Given the description of an element on the screen output the (x, y) to click on. 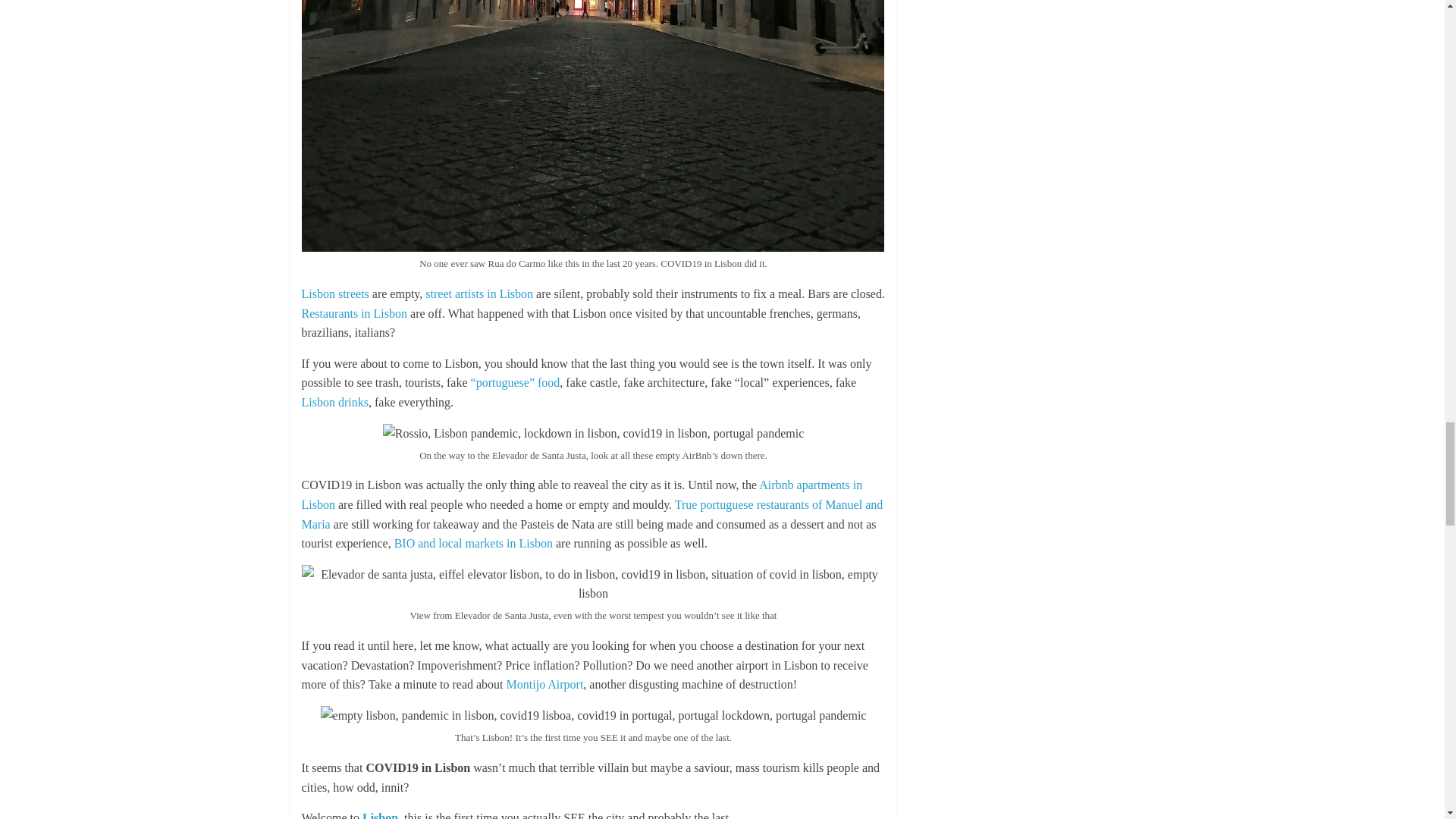
Lisbon streets (335, 293)
